Given the description of an element on the screen output the (x, y) to click on. 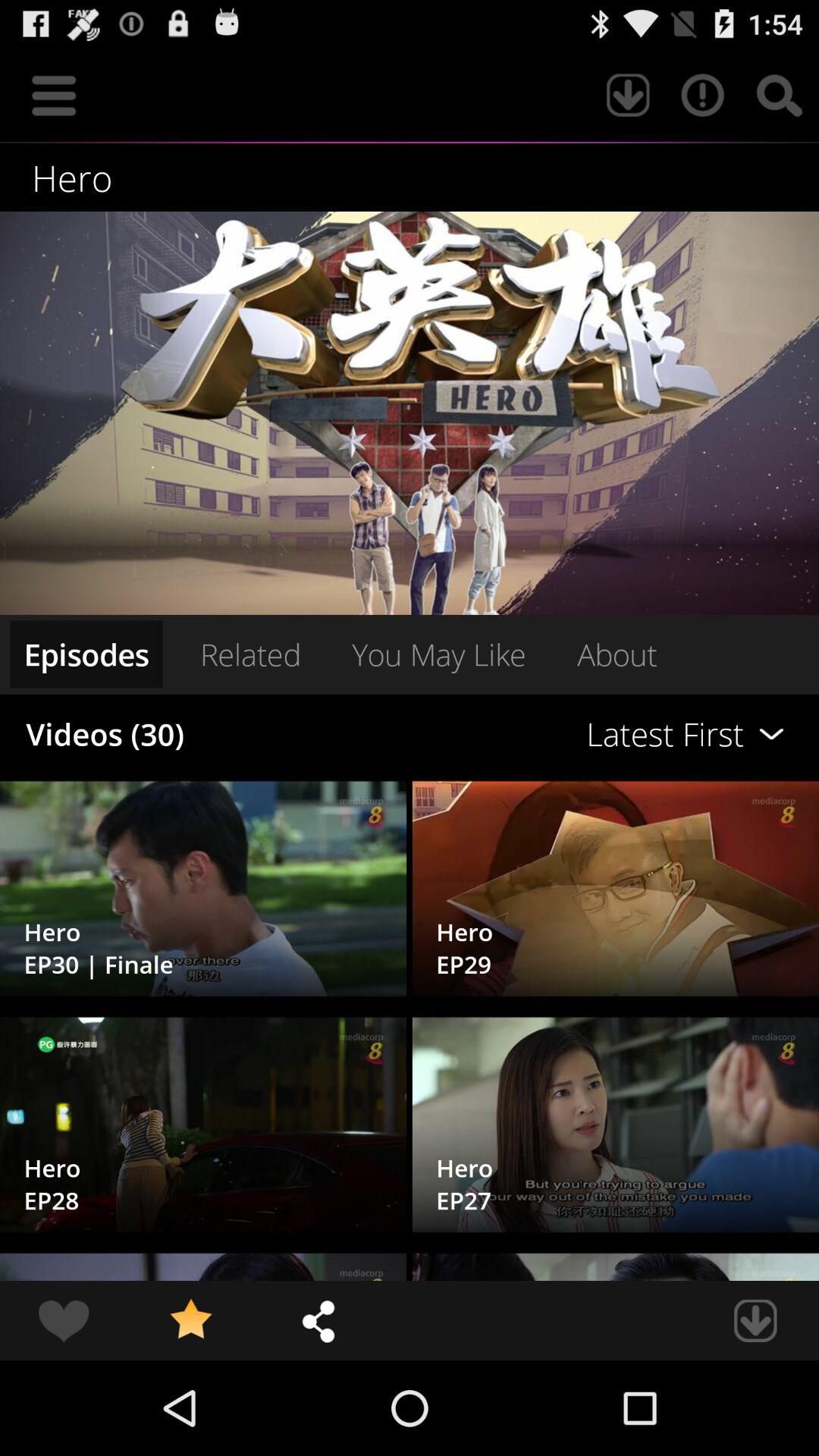
launch the item above hero item (627, 95)
